Given the description of an element on the screen output the (x, y) to click on. 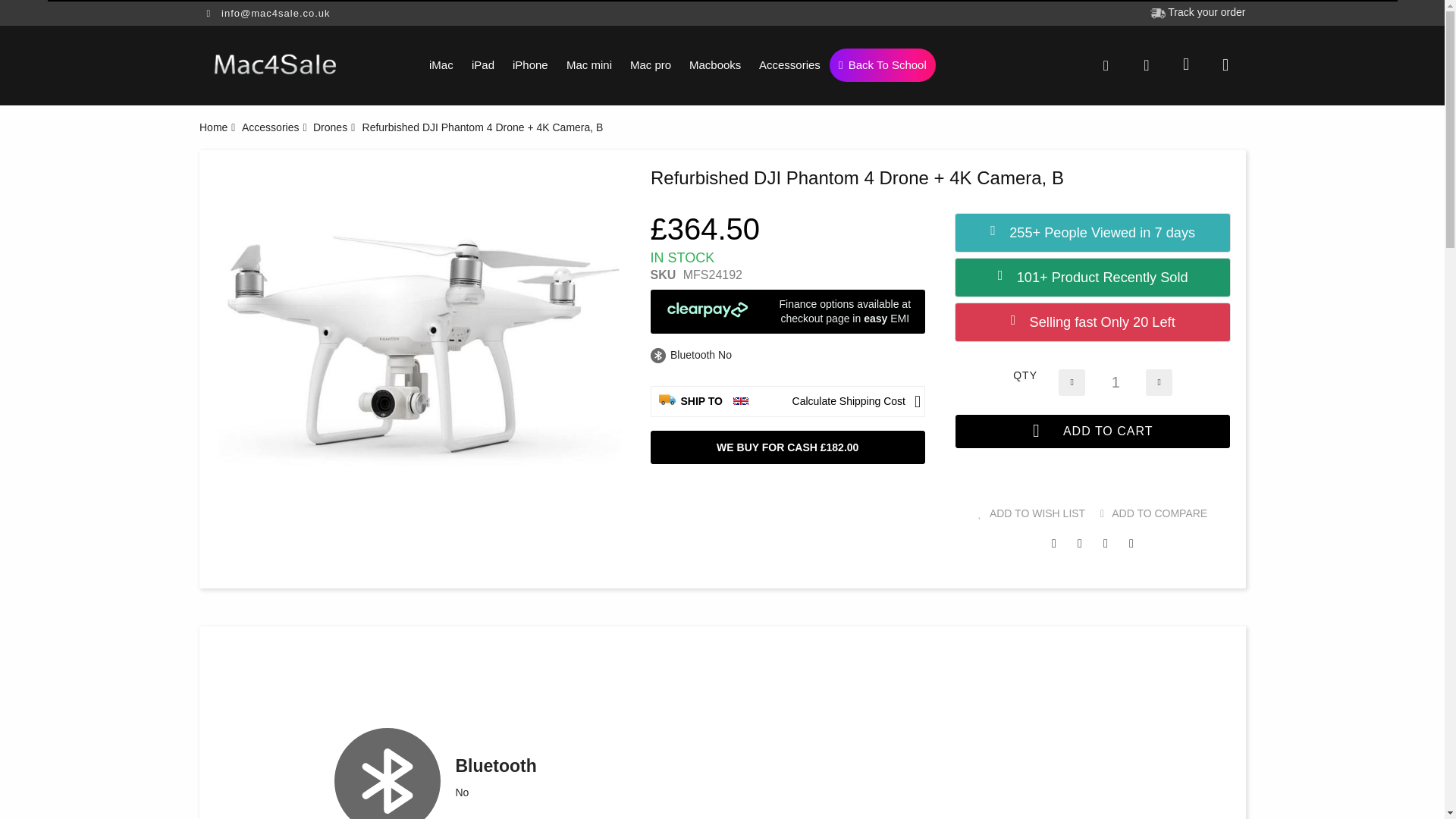
Calculate Shipping Cost (854, 400)
Mac pro (650, 64)
Drones (330, 127)
iPad (483, 64)
Increase (1158, 381)
Mac4sale.co.uk (274, 64)
iPhone (530, 64)
Drones (330, 127)
Decrease (1071, 381)
Qty (1115, 381)
